Given the description of an element on the screen output the (x, y) to click on. 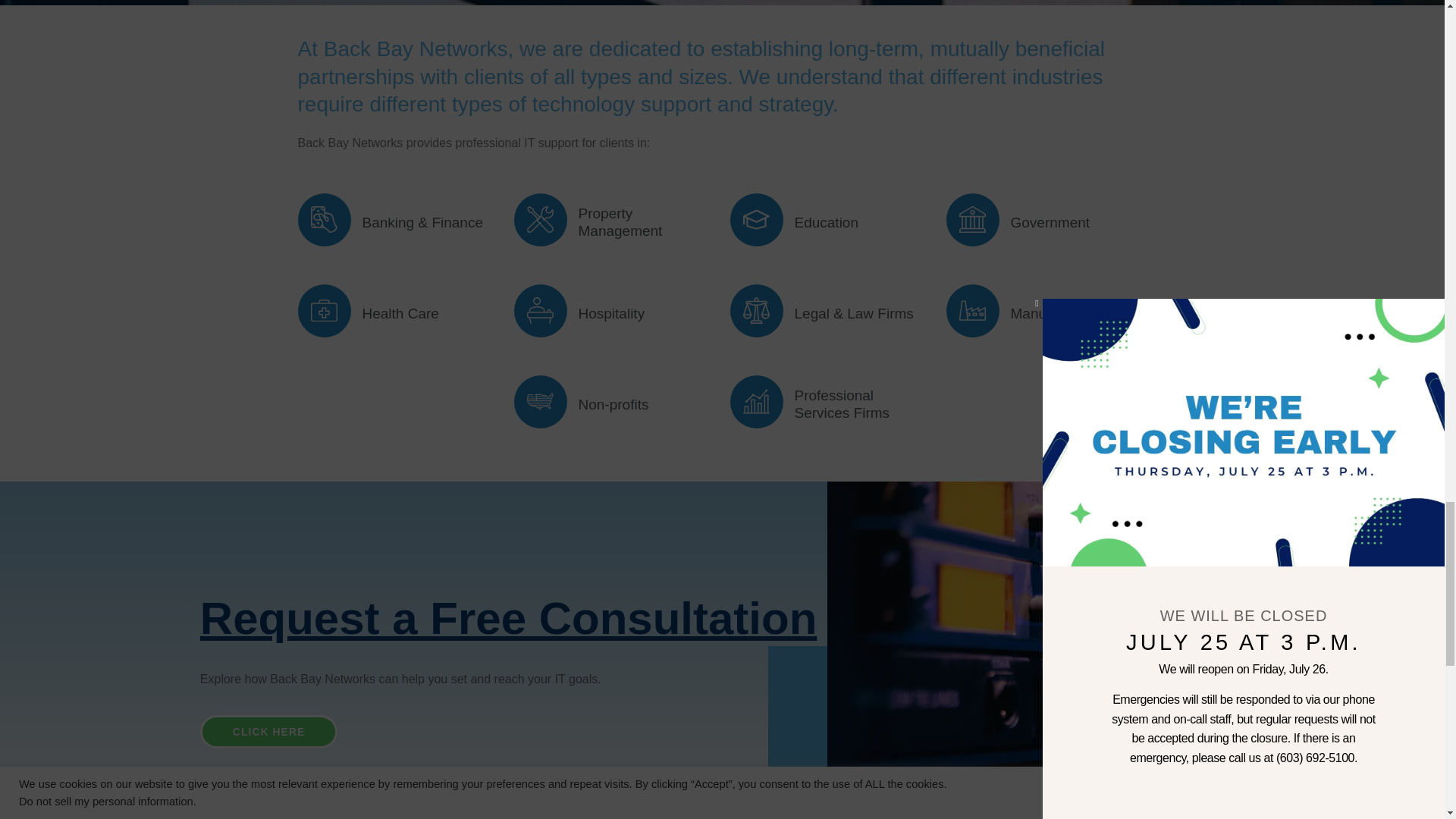
CLICK HERE (268, 731)
